Given the description of an element on the screen output the (x, y) to click on. 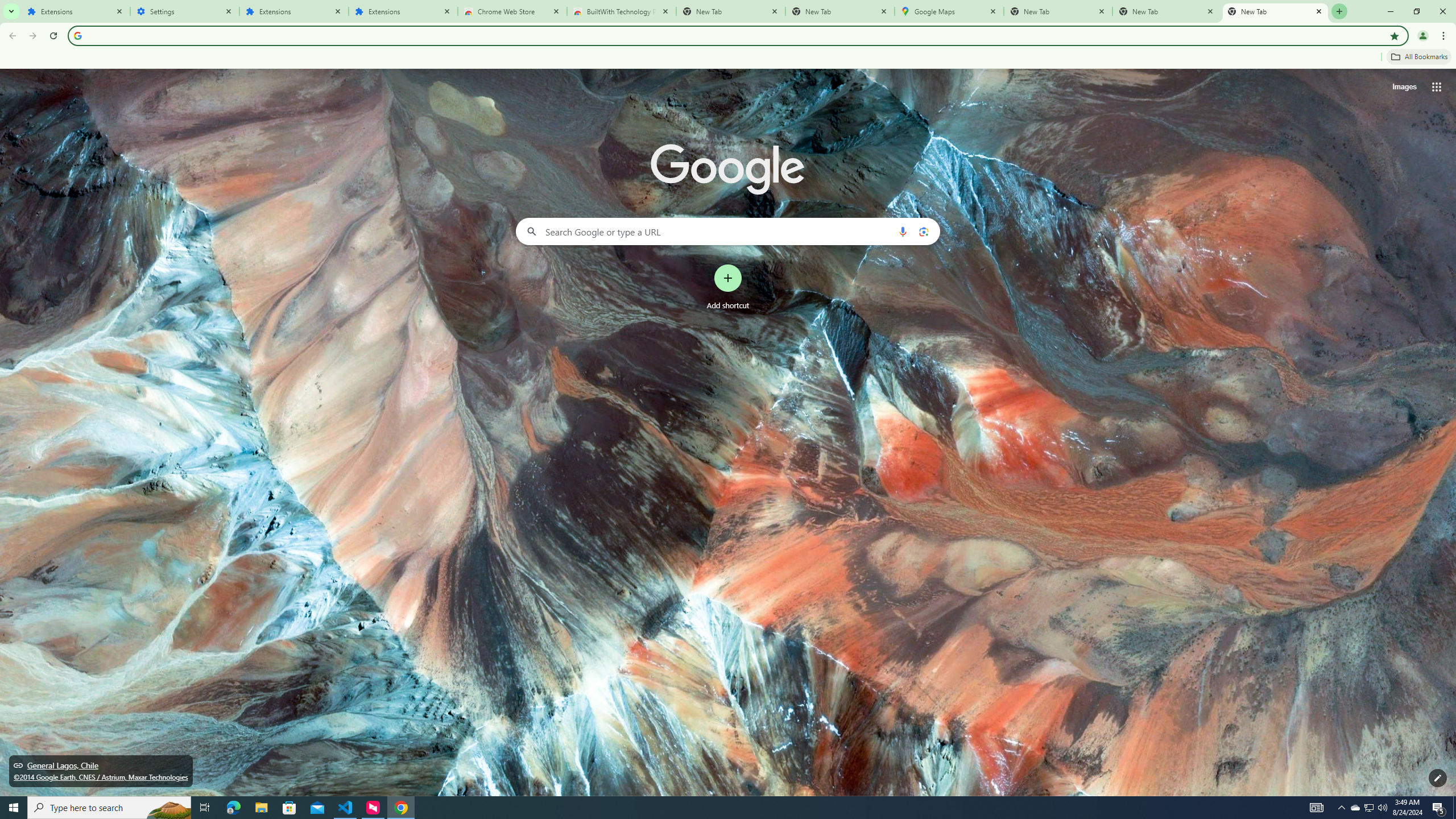
New Tab (1058, 11)
Search Google or type a URL (727, 230)
Google Maps (949, 11)
Search icon (77, 35)
New Tab (1275, 11)
BuiltWith Technology Profiler - Chrome Web Store (621, 11)
Search by voice (902, 230)
Add shortcut (727, 287)
